Given the description of an element on the screen output the (x, y) to click on. 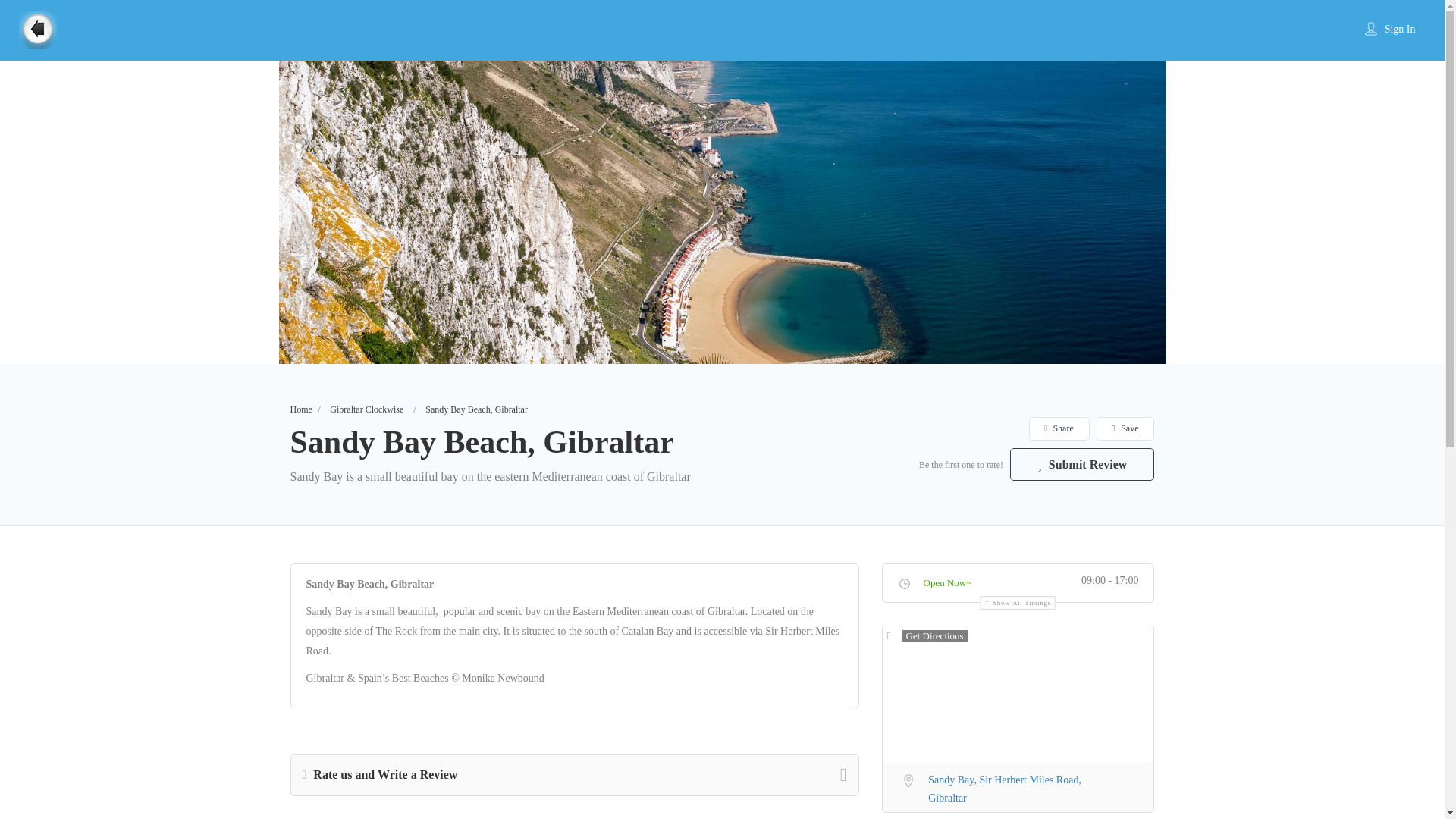
Show All Timings (1017, 602)
Get Directions (927, 636)
Sandy Bay, Sir Herbert Miles Road, Gibraltar (1018, 786)
Submit (413, 502)
Gibraltar Clockwise (366, 409)
Save (1125, 428)
Sign In (1399, 29)
Submit Review (1082, 463)
Home (300, 409)
Claim your business now! (584, 571)
Share (1058, 428)
